Given the description of an element on the screen output the (x, y) to click on. 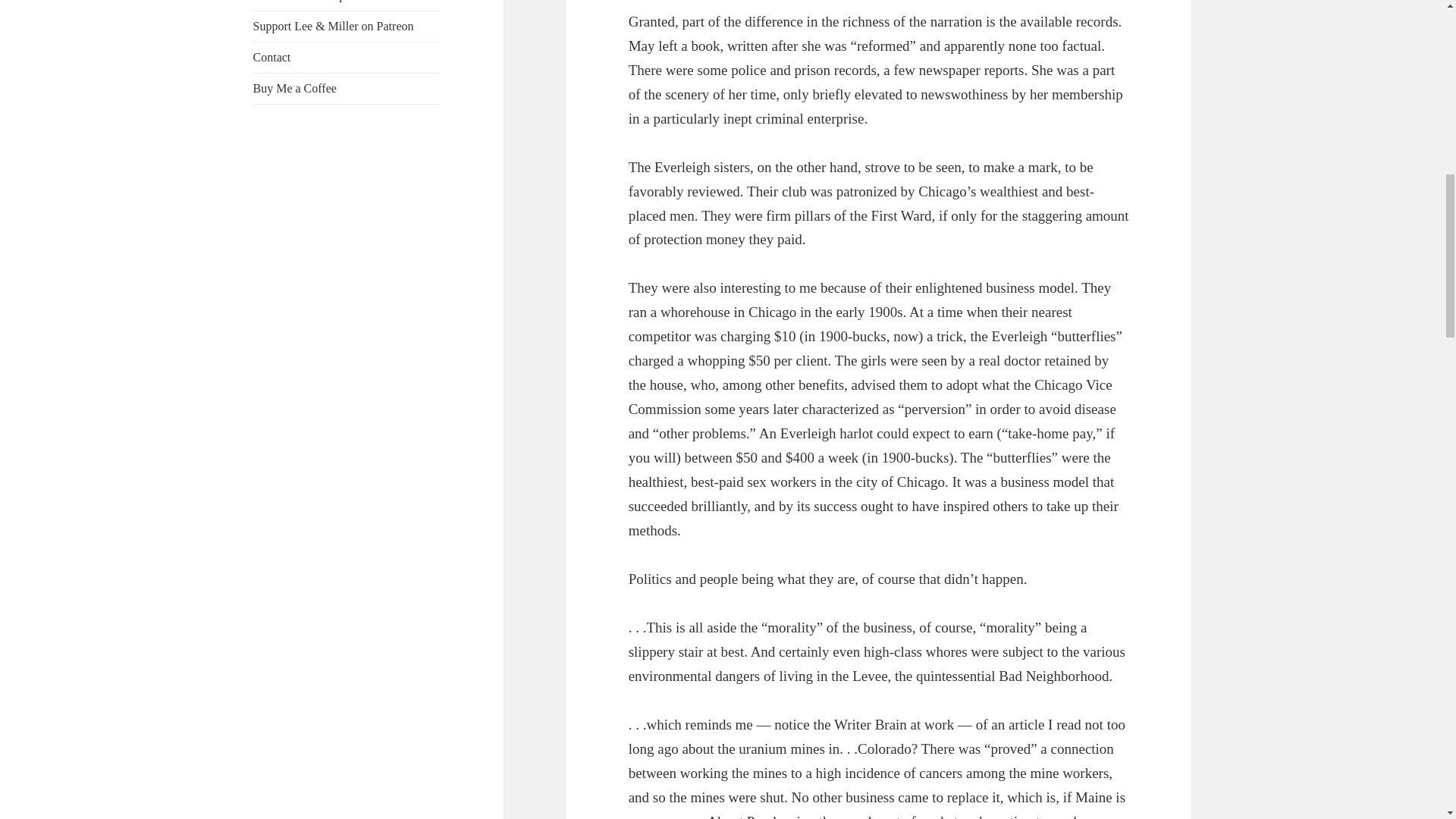
The Case of the Spanish Aunt (347, 5)
Buy Me a Coffee (347, 88)
Contact (347, 57)
